Given the description of an element on the screen output the (x, y) to click on. 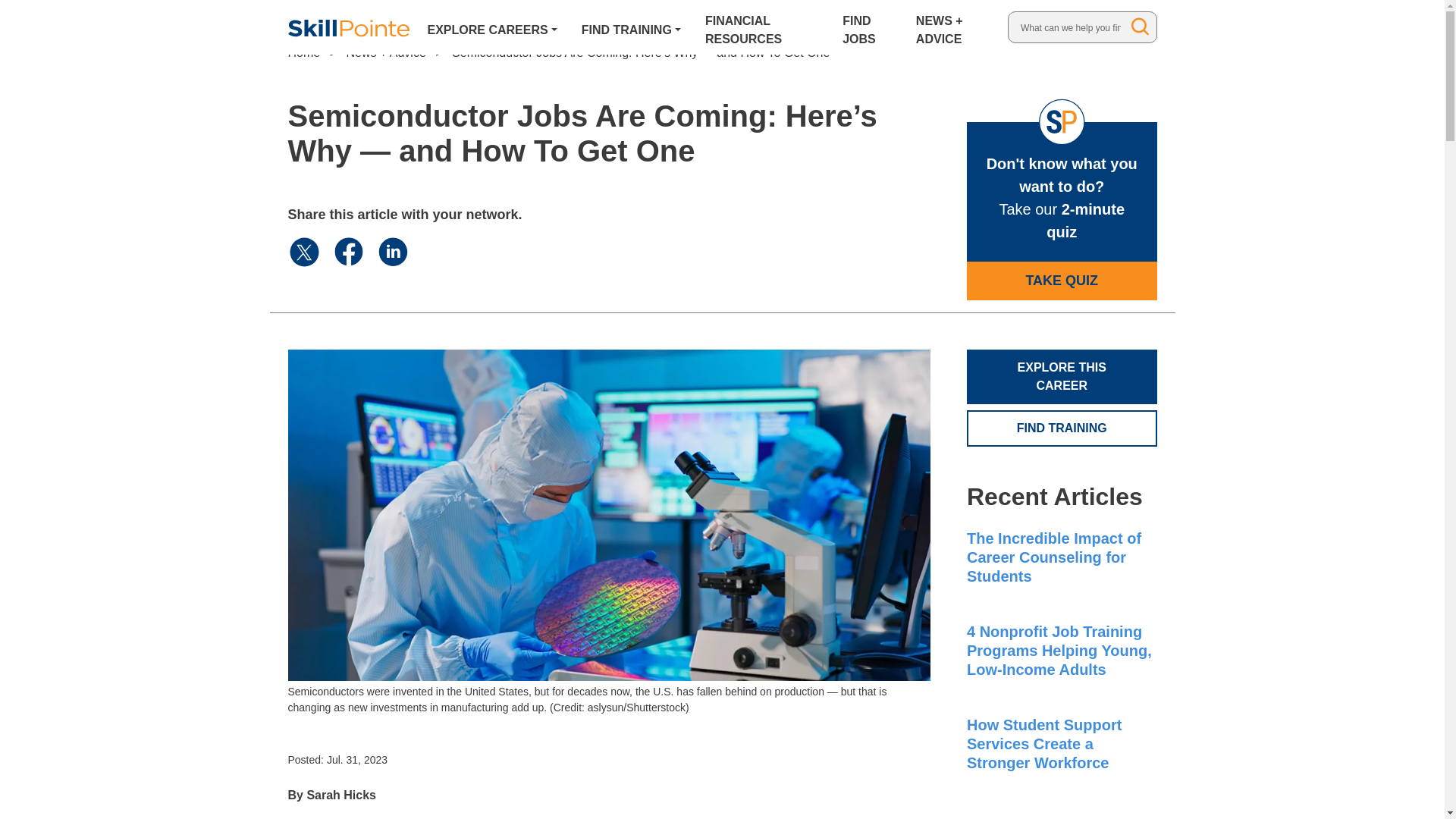
FIND TRAINING (631, 27)
FINANCIAL RESOURCES (761, 26)
SkillPointe homepage (348, 27)
Search (1140, 26)
SkillPointe (348, 27)
EXPLORE CAREERS (492, 27)
FIND JOBS (866, 26)
Home (304, 51)
